Given the description of an element on the screen output the (x, y) to click on. 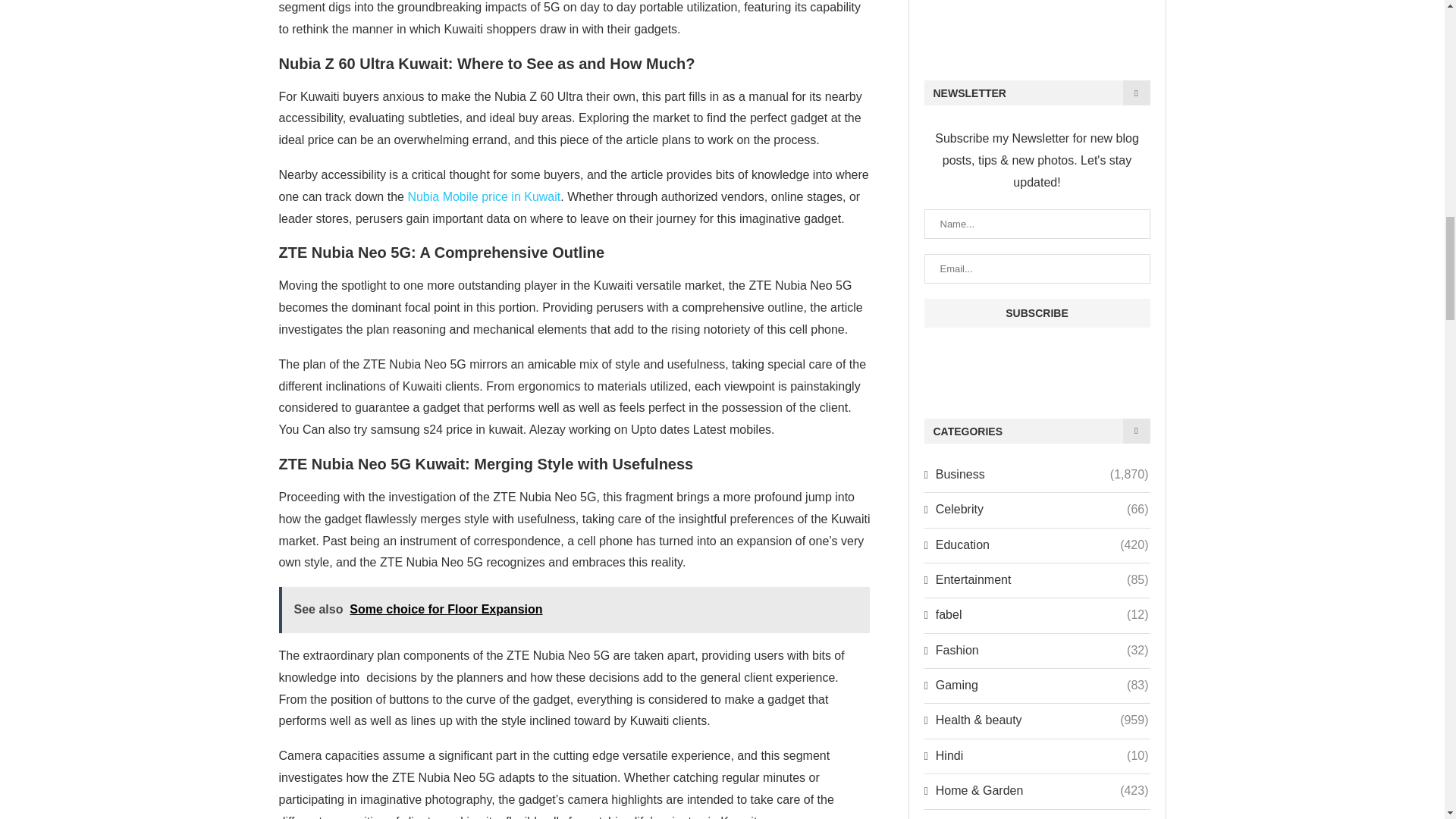
Subscribe (1036, 312)
